Given the description of an element on the screen output the (x, y) to click on. 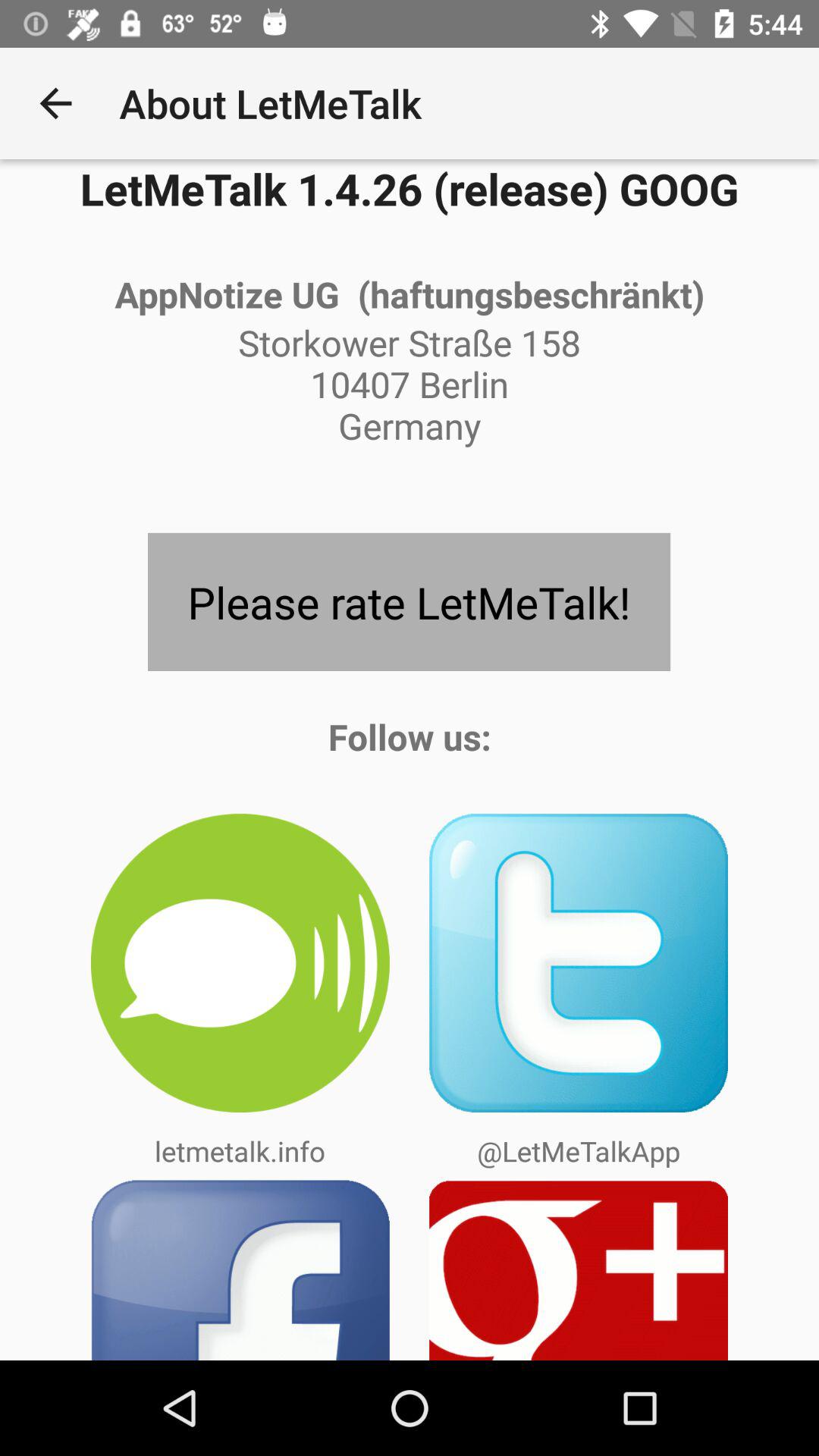
message (240, 962)
